Given the description of an element on the screen output the (x, y) to click on. 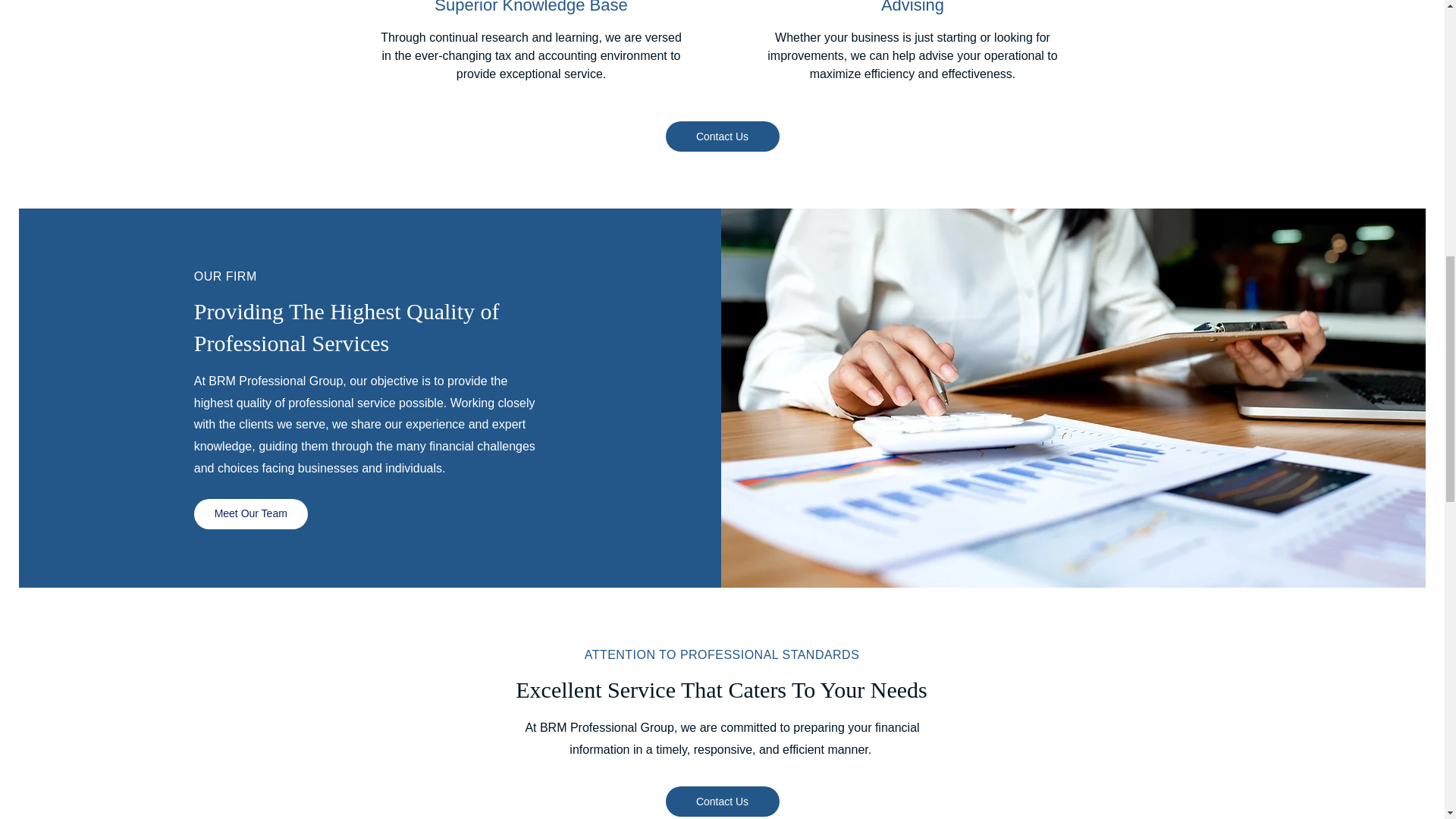
Meet Our Team (250, 513)
Contact Us (721, 801)
Contact Us (721, 136)
